Given the description of an element on the screen output the (x, y) to click on. 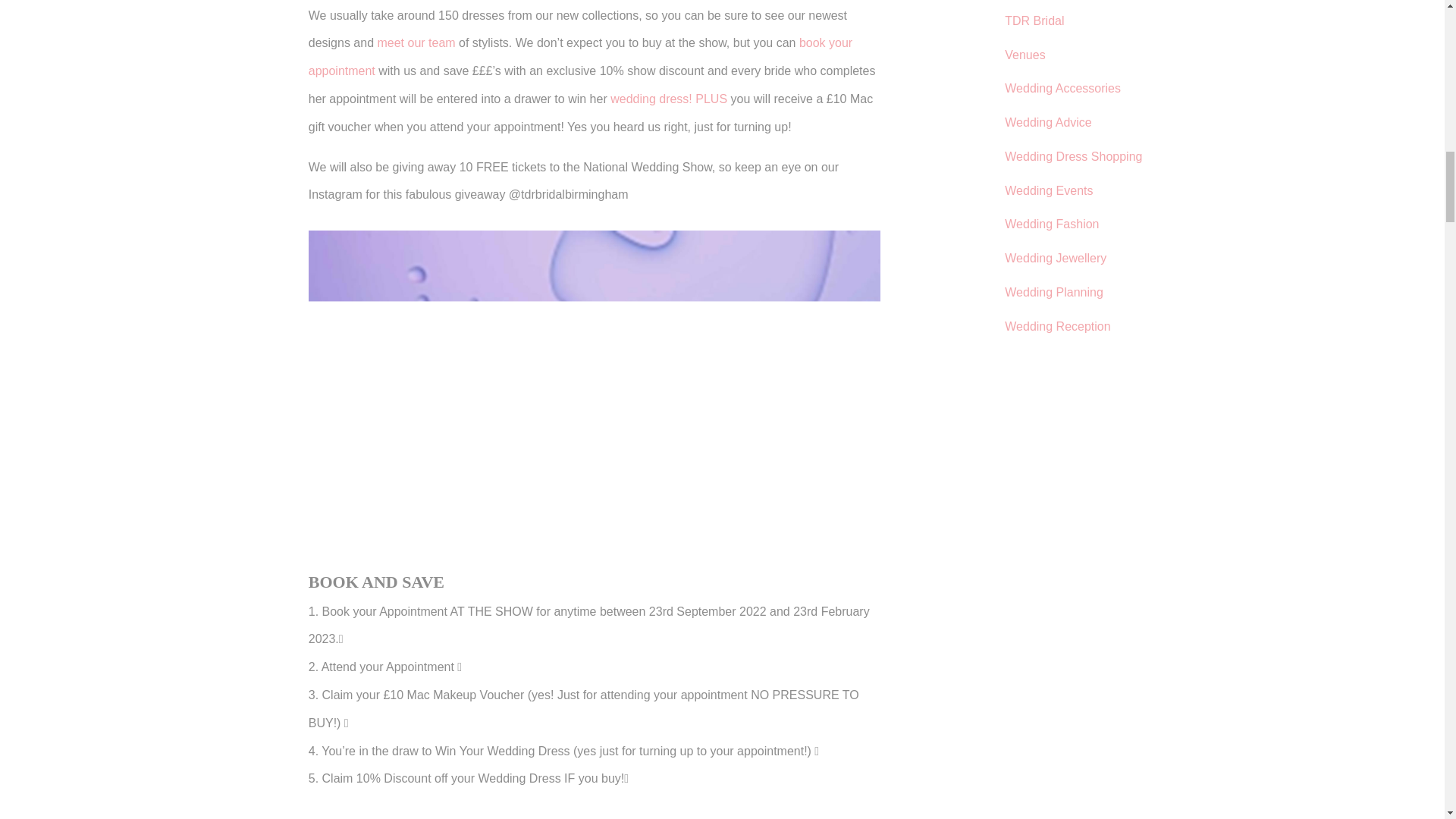
book your appointment (579, 56)
meet our team (415, 42)
wedding dress! PLUS (668, 98)
